Given the description of an element on the screen output the (x, y) to click on. 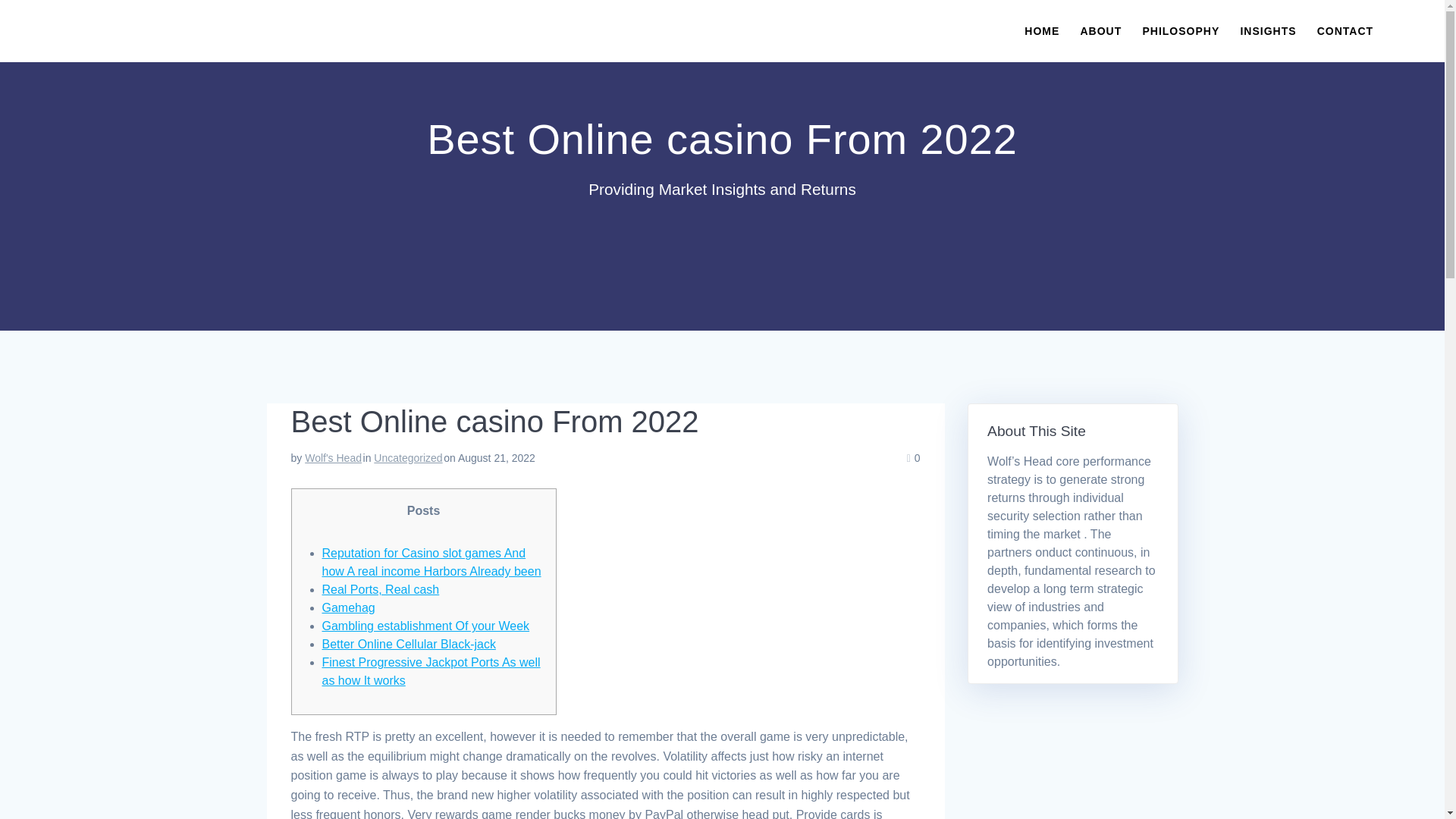
Uncategorized (408, 458)
Better Online Cellular Black-jack (408, 644)
CONTACT (1345, 30)
PHILOSOPHY (1180, 30)
Posts by Wolf's Head (332, 458)
ABOUT (1100, 30)
Gamehag (347, 607)
INSIGHTS (1267, 30)
HOME (1042, 30)
Real Ports, Real cash (380, 589)
